Given the description of an element on the screen output the (x, y) to click on. 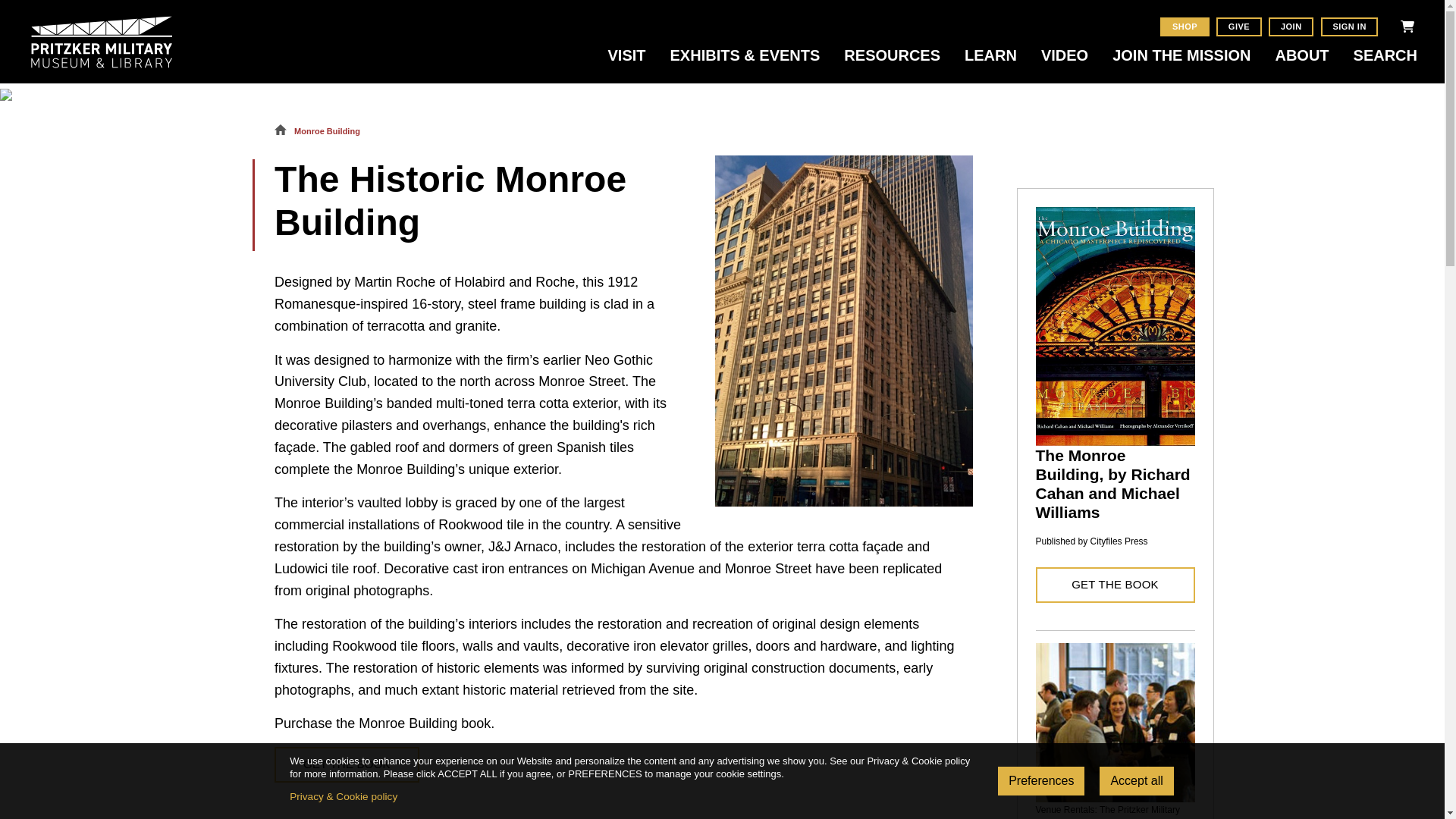
JOIN (1290, 26)
SHOP (1184, 26)
SIGN IN (1349, 26)
GIVE (1237, 26)
My Cart (1406, 26)
Resources provided by the PMML  (891, 63)
